Given the description of an element on the screen output the (x, y) to click on. 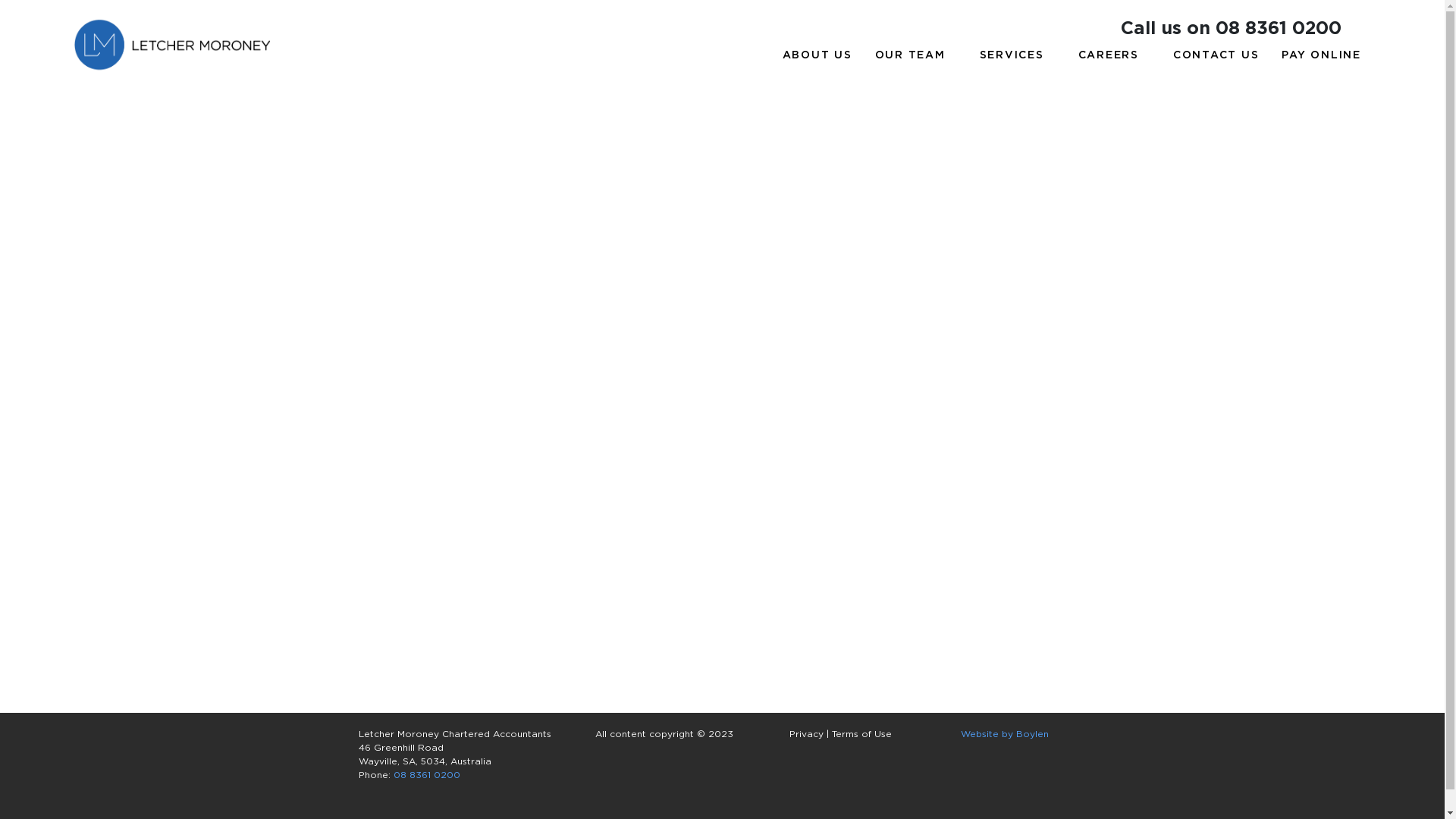
Terms of Use Element type: text (861, 734)
Privacy Element type: text (806, 734)
ABOUT US Element type: text (817, 55)
08 8361 0200 Element type: text (425, 775)
Website by Boylen Element type: text (1004, 734)
PAY ONLINE Element type: text (1321, 55)
OUR TEAM Element type: text (916, 55)
SERVICES Element type: text (1017, 55)
Call us on 08 8361 0200 Element type: text (1230, 28)
CONTACT US Element type: text (1216, 55)
CAREERS Element type: text (1114, 55)
